Given the description of an element on the screen output the (x, y) to click on. 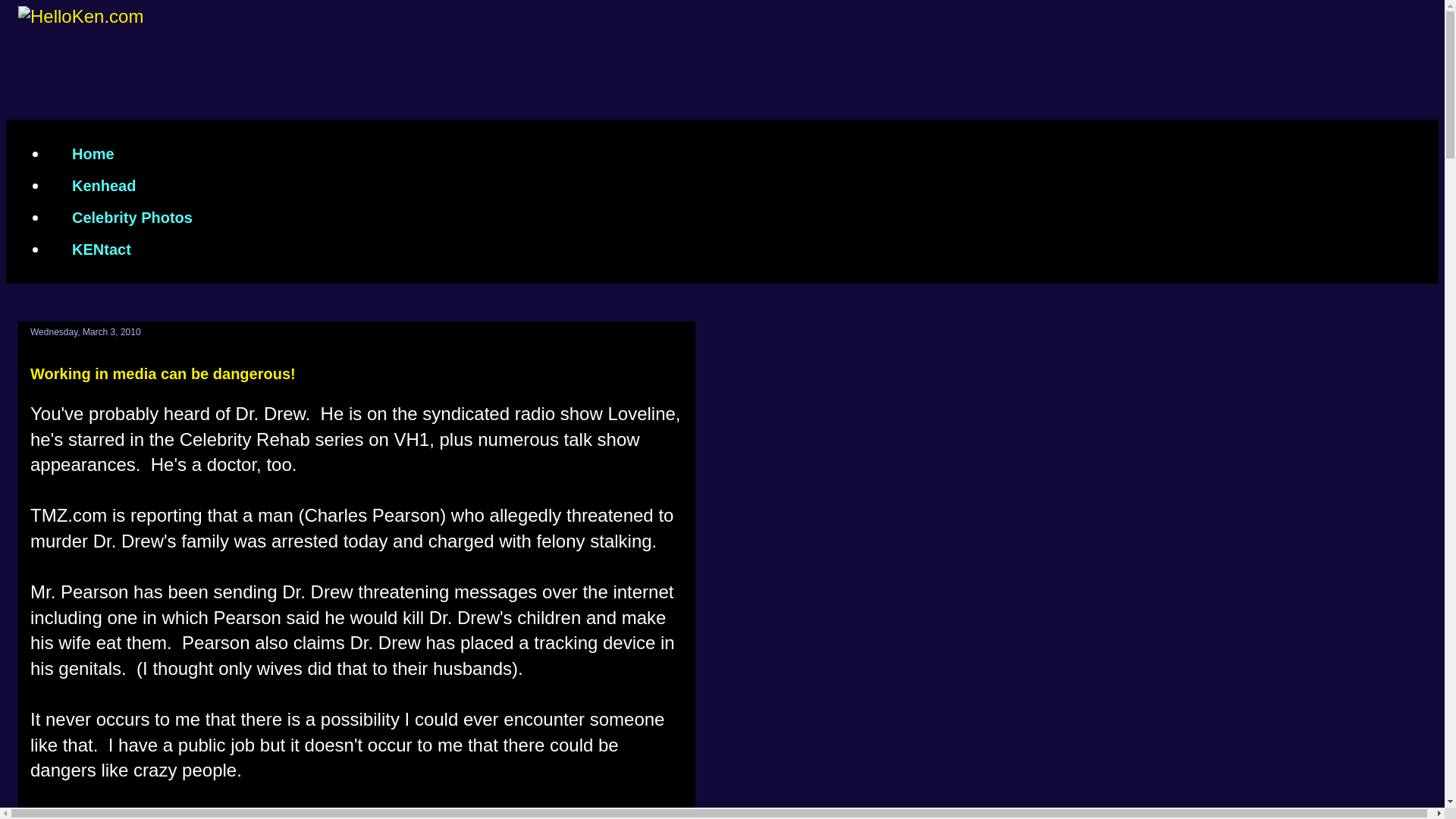
Home (92, 153)
KENtact (101, 249)
Kenhead (103, 185)
Celebrity Photos (131, 217)
